Given the description of an element on the screen output the (x, y) to click on. 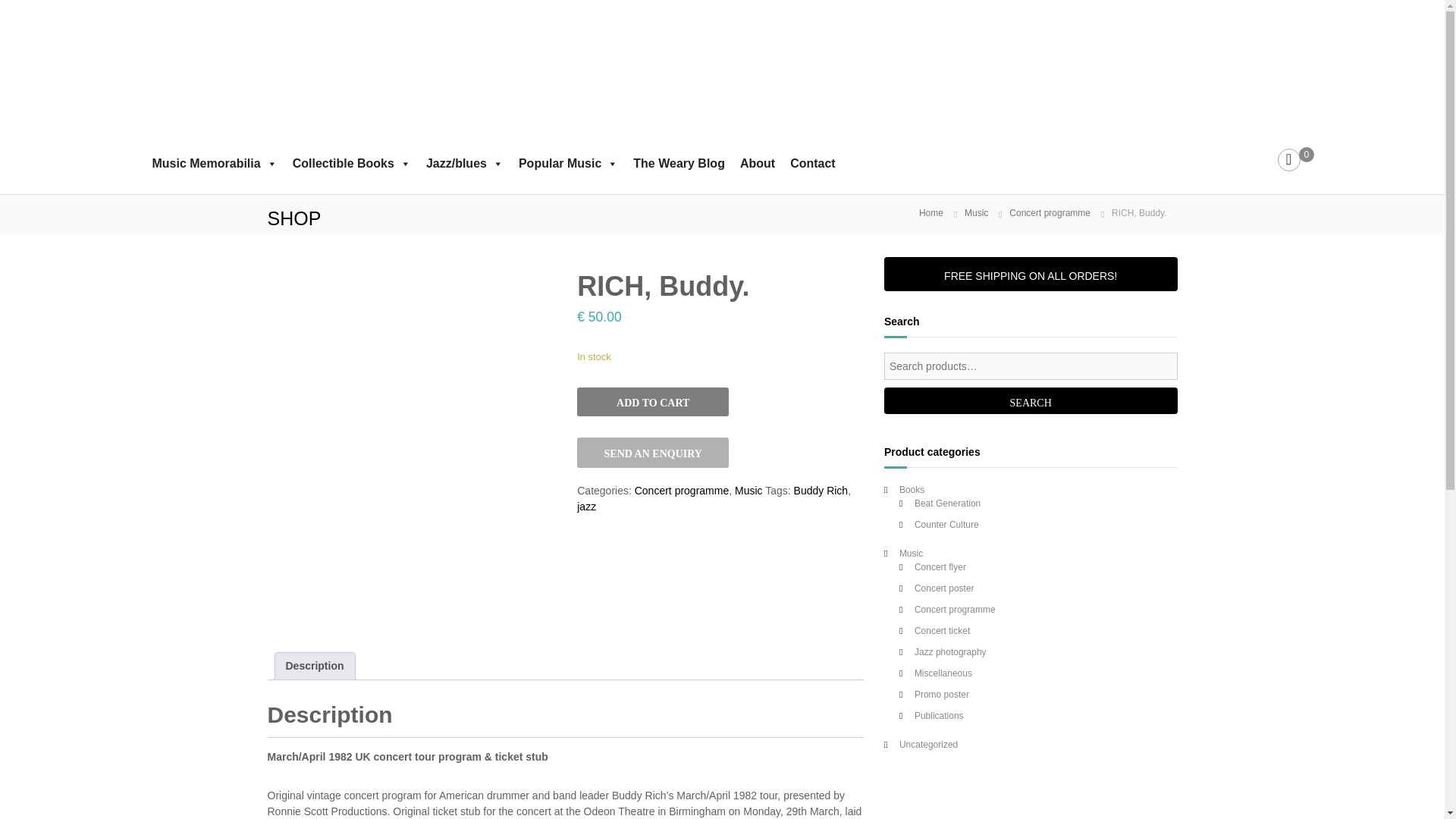
SEND AN ENQUIRY (652, 452)
Music Memorabilia (213, 163)
Collectible Books (352, 163)
